Given the description of an element on the screen output the (x, y) to click on. 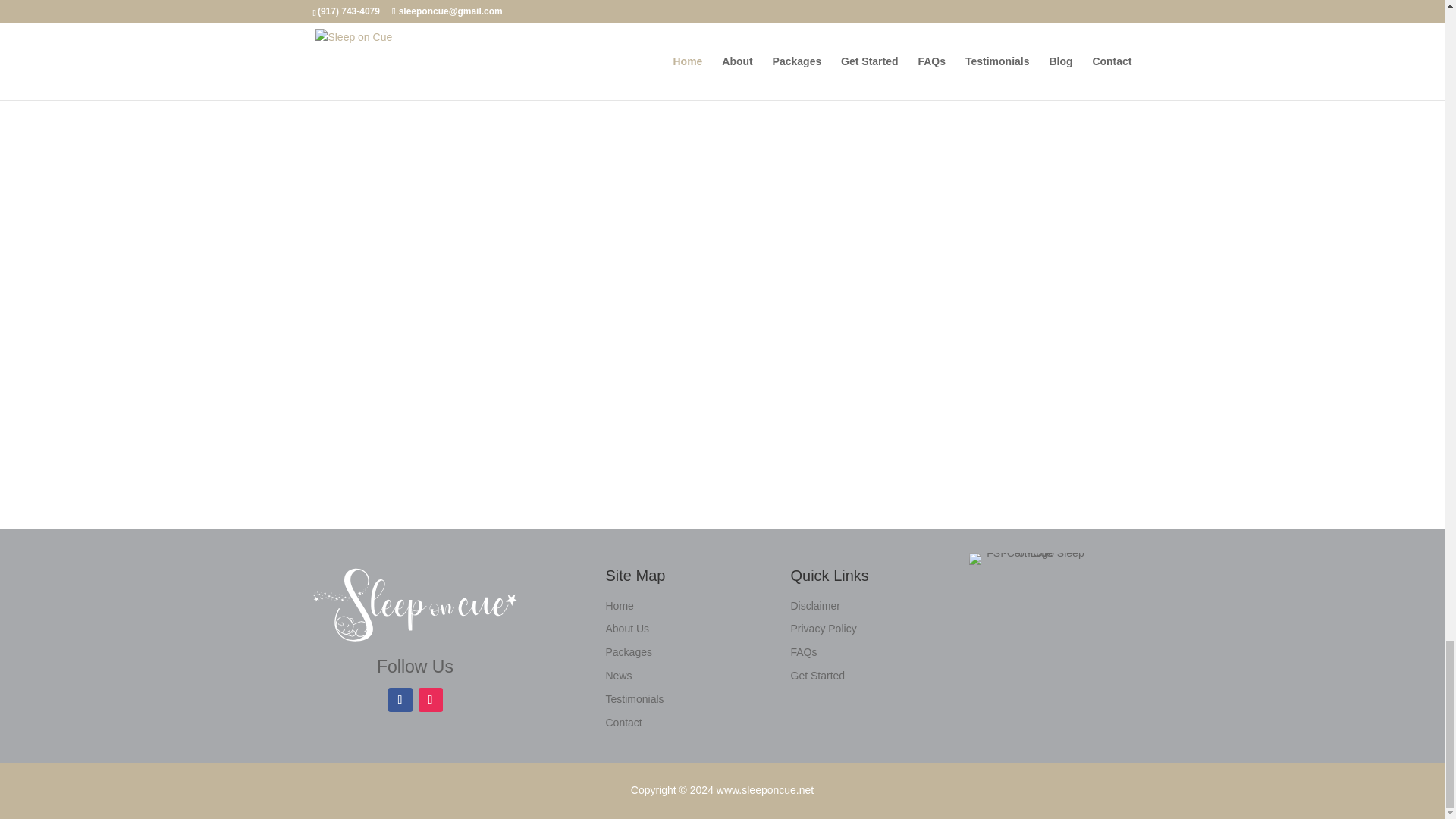
About Us (627, 628)
Contact (623, 722)
SLEEP-ON-CUE-logo white (414, 605)
Follow on Facebook (400, 699)
FSI-Cert-Logo Sleep on Cue (1029, 558)
Testimonials (634, 698)
Home (619, 605)
Packages (627, 652)
News (618, 675)
Follow on Instagram (430, 699)
